Given the description of an element on the screen output the (x, y) to click on. 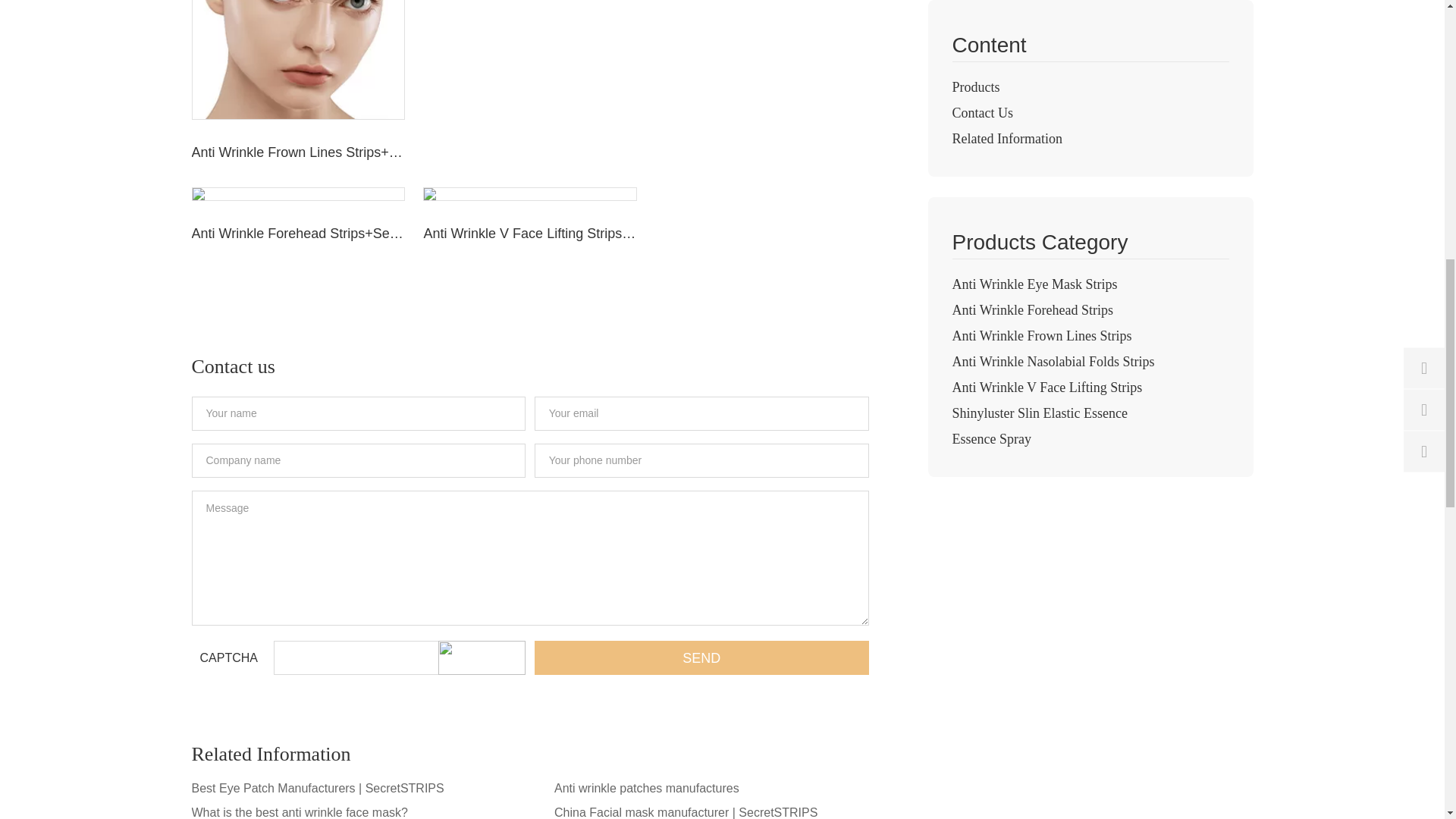
SEND (701, 657)
